Given the description of an element on the screen output the (x, y) to click on. 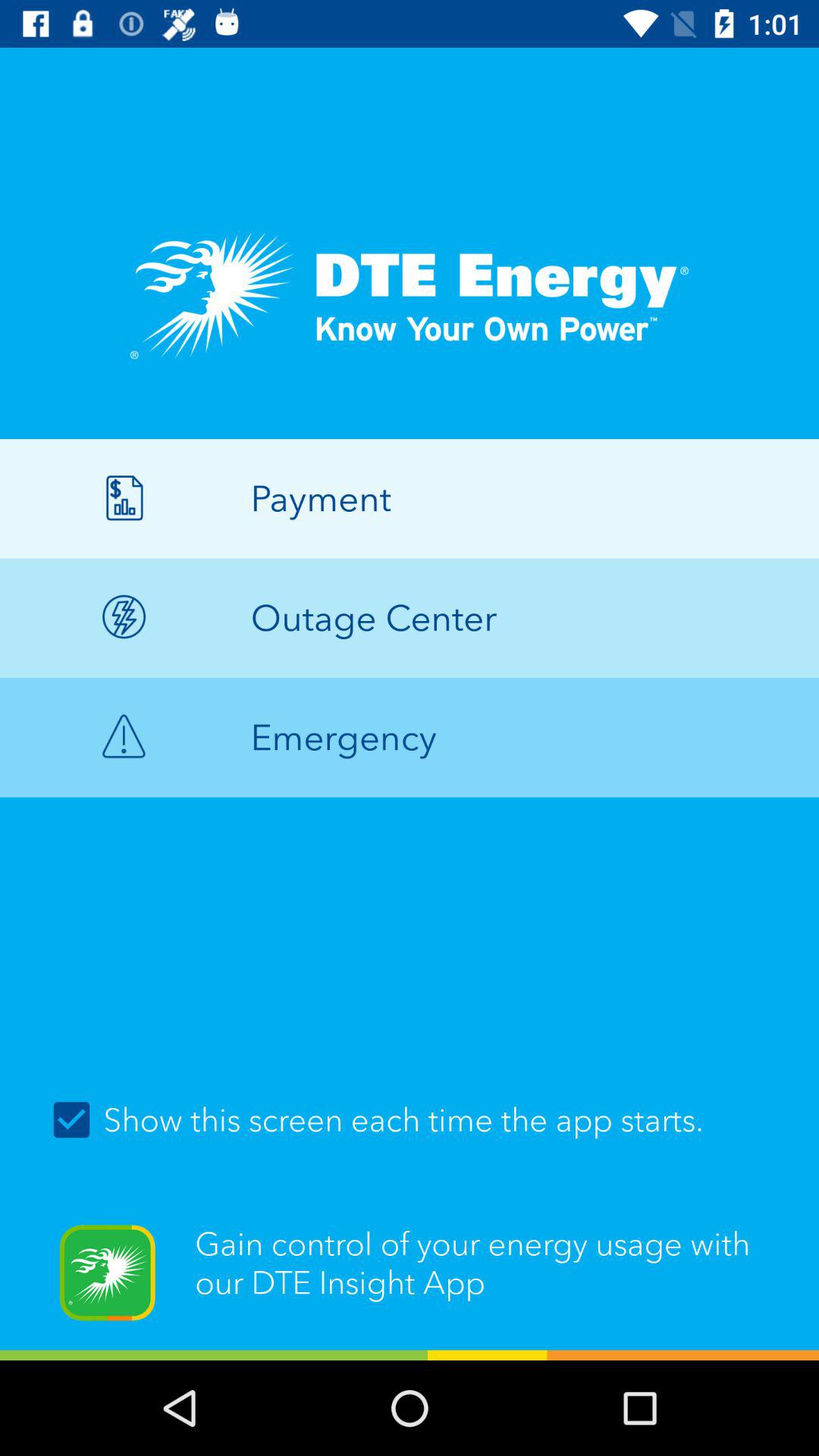
jump until the gain control of (409, 1282)
